Given the description of an element on the screen output the (x, y) to click on. 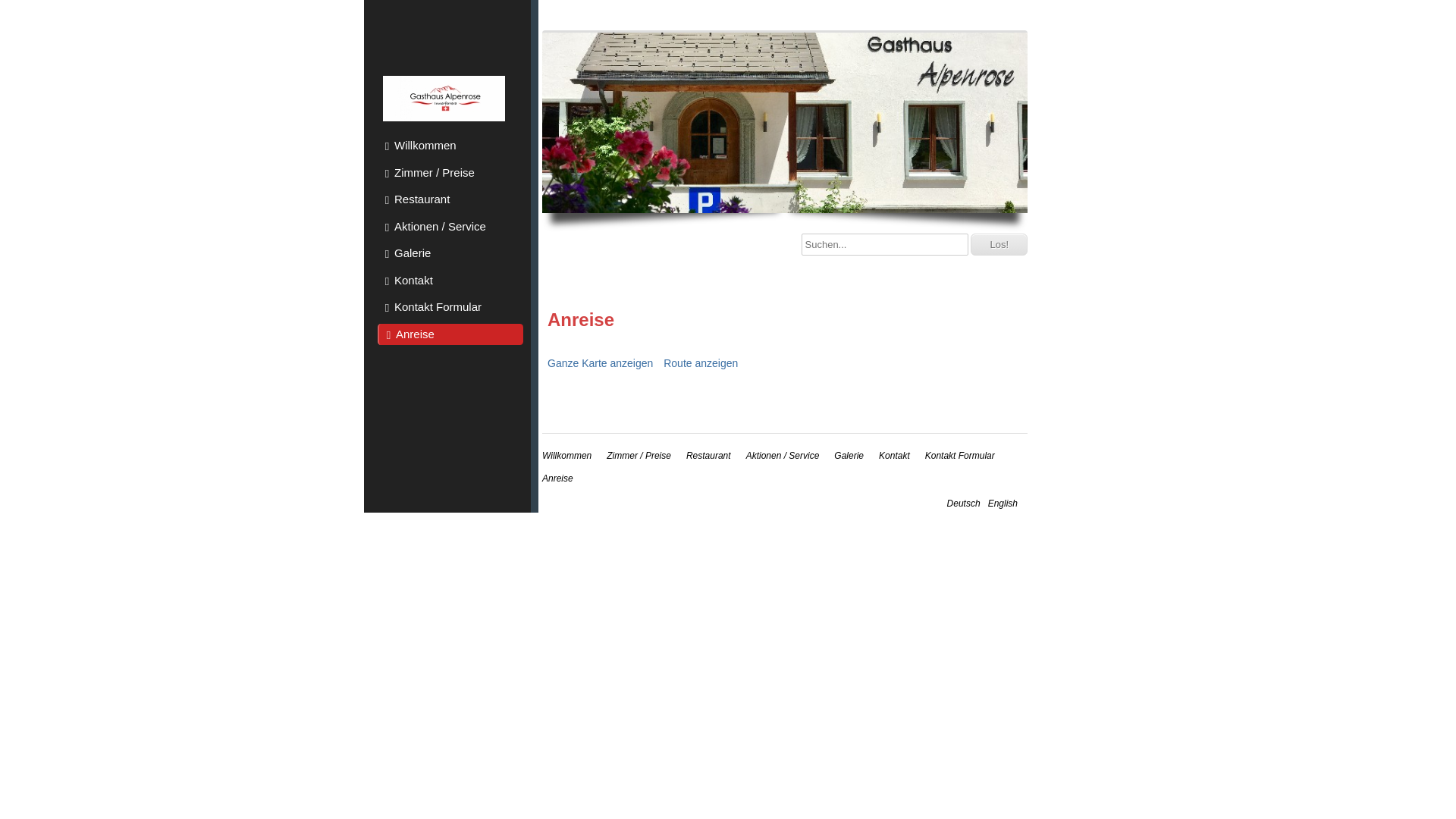
Galerie Element type: text (848, 455)
Zimmer / Preise Element type: text (638, 455)
English Element type: text (1002, 503)
Los! Element type: text (998, 244)
Kontakt Element type: text (450, 280)
Kontakt Formular Element type: text (959, 455)
Anreise Element type: text (557, 478)
Restaurant Element type: text (450, 199)
Zimmer / Preise Element type: text (450, 172)
Aktionen / Service Element type: text (782, 455)
Aktionen / Service Element type: text (450, 225)
Willkommen Element type: text (566, 455)
Anreise Element type: text (450, 333)
Route anzeigen Element type: text (700, 363)
Kontakt Formular Element type: text (450, 306)
Willkommen Element type: text (450, 145)
Deutsch Element type: text (963, 503)
Restaurant Element type: text (708, 455)
Kontakt Element type: text (894, 455)
Galerie Element type: text (450, 252)
Ganze Karte anzeigen Element type: text (599, 363)
